Given the description of an element on the screen output the (x, y) to click on. 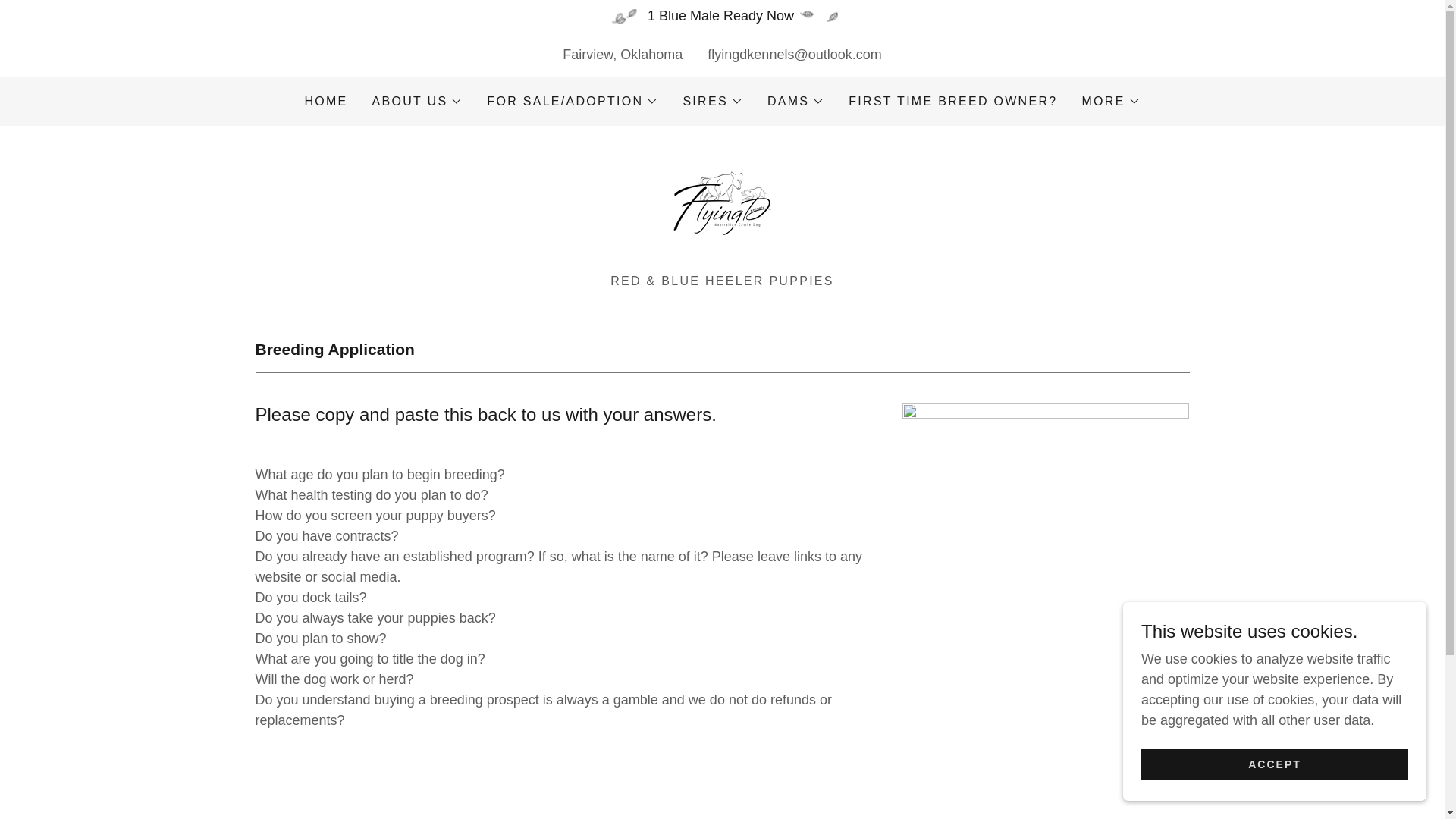
ABOUT US (417, 101)
HOME (325, 101)
SIRES (712, 101)
MORE (1110, 101)
DAMS (795, 101)
Flying D Kennels (722, 204)
FIRST TIME BREED OWNER? (952, 101)
